Given the description of an element on the screen output the (x, y) to click on. 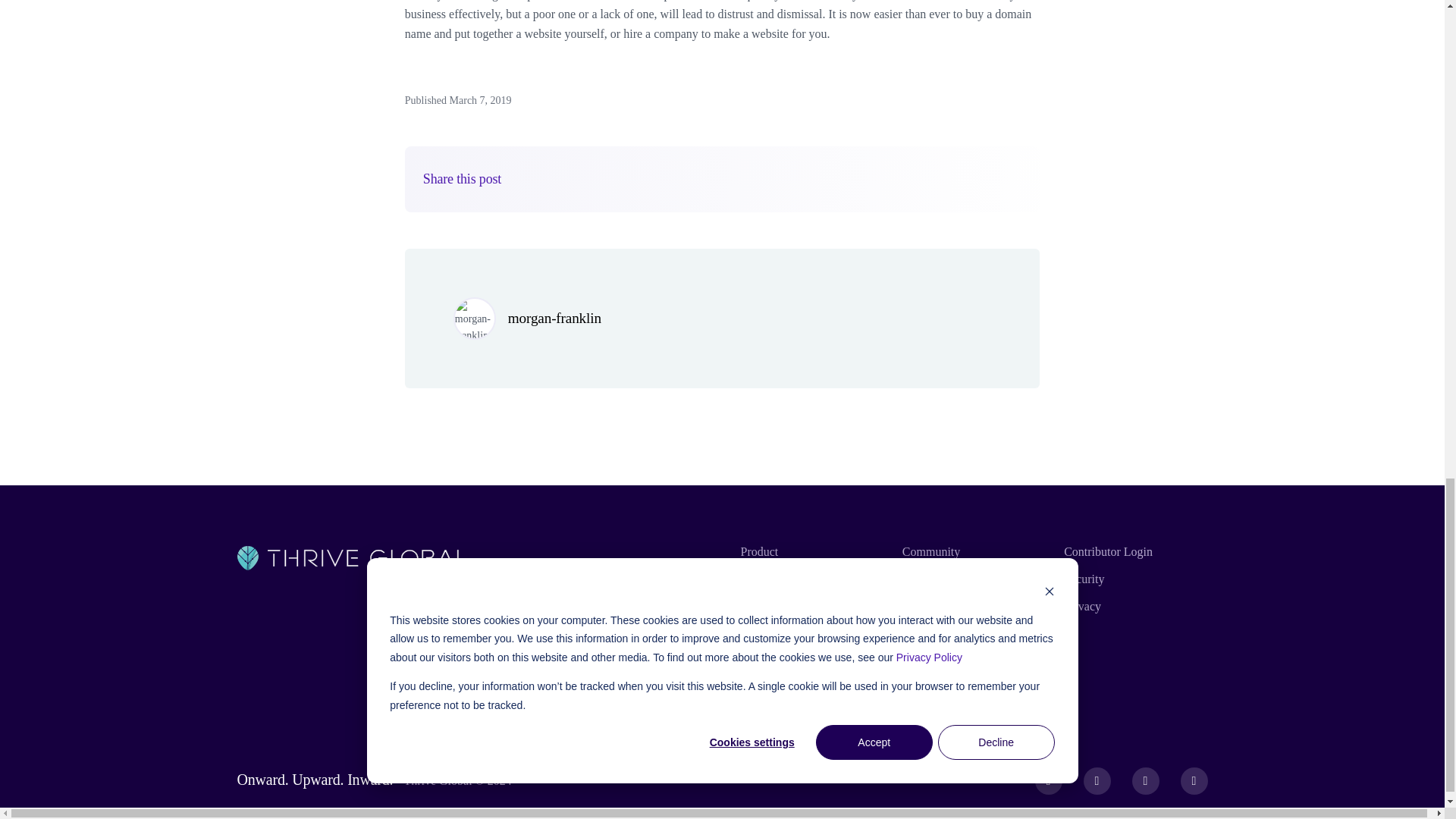
morgan-franklin (554, 317)
